Given the description of an element on the screen output the (x, y) to click on. 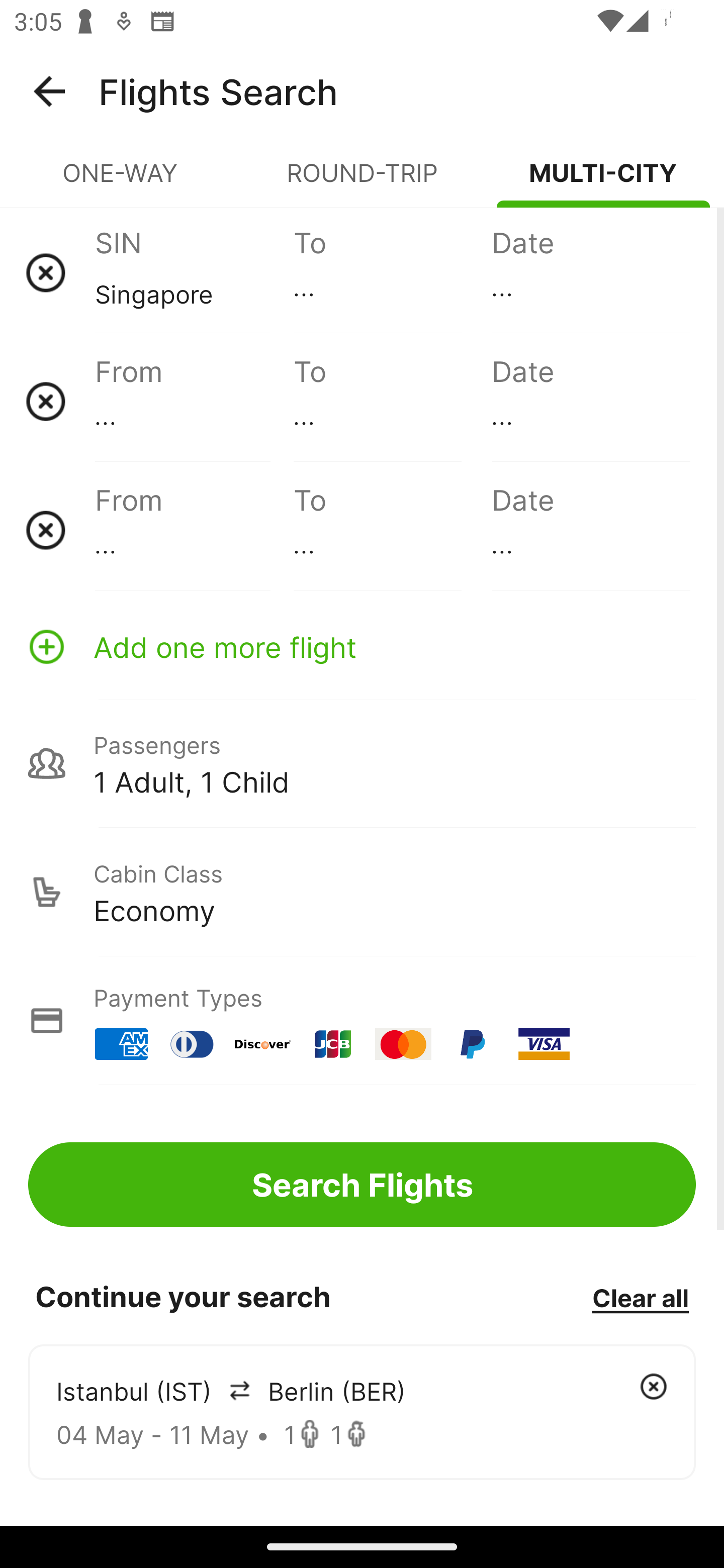
ONE-WAY (120, 180)
ROUND-TRIP (361, 180)
MULTI-CITY (603, 180)
SIN Singapore (193, 272)
To ⋯ (392, 272)
Date ⋯ (590, 272)
From ⋯ (193, 401)
To ⋯ (392, 401)
Date ⋯ (590, 401)
From ⋯ (193, 529)
To ⋯ (392, 529)
Date ⋯ (590, 529)
Add one more flight (362, 646)
Passengers 1 Adult, 1 Child (362, 762)
Cabin Class Economy (362, 891)
Payment Types (362, 1020)
Search Flights (361, 1184)
Clear all (640, 1297)
